Given the description of an element on the screen output the (x, y) to click on. 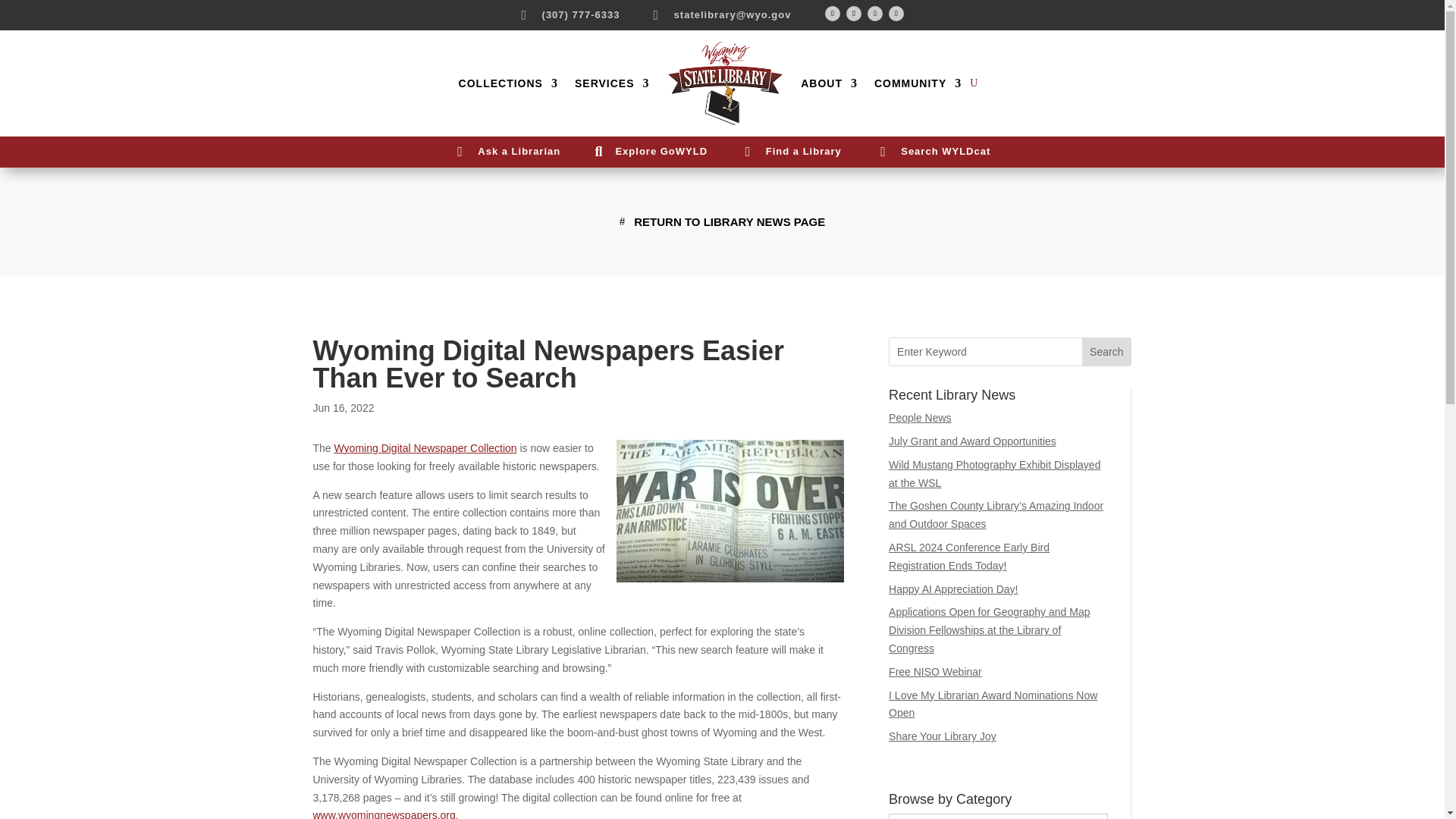
Search (1106, 351)
Follow on Youtube (874, 13)
SERVICES (612, 83)
Follow on Facebook (832, 13)
Facebook (832, 13)
COMMUNITY (917, 83)
Follow on X (853, 13)
COLLECTIONS (507, 83)
Search (1106, 351)
Youtube (874, 13)
Linkedin (896, 13)
Twitter (853, 13)
Follow on LinkedIn (896, 13)
